Given the description of an element on the screen output the (x, y) to click on. 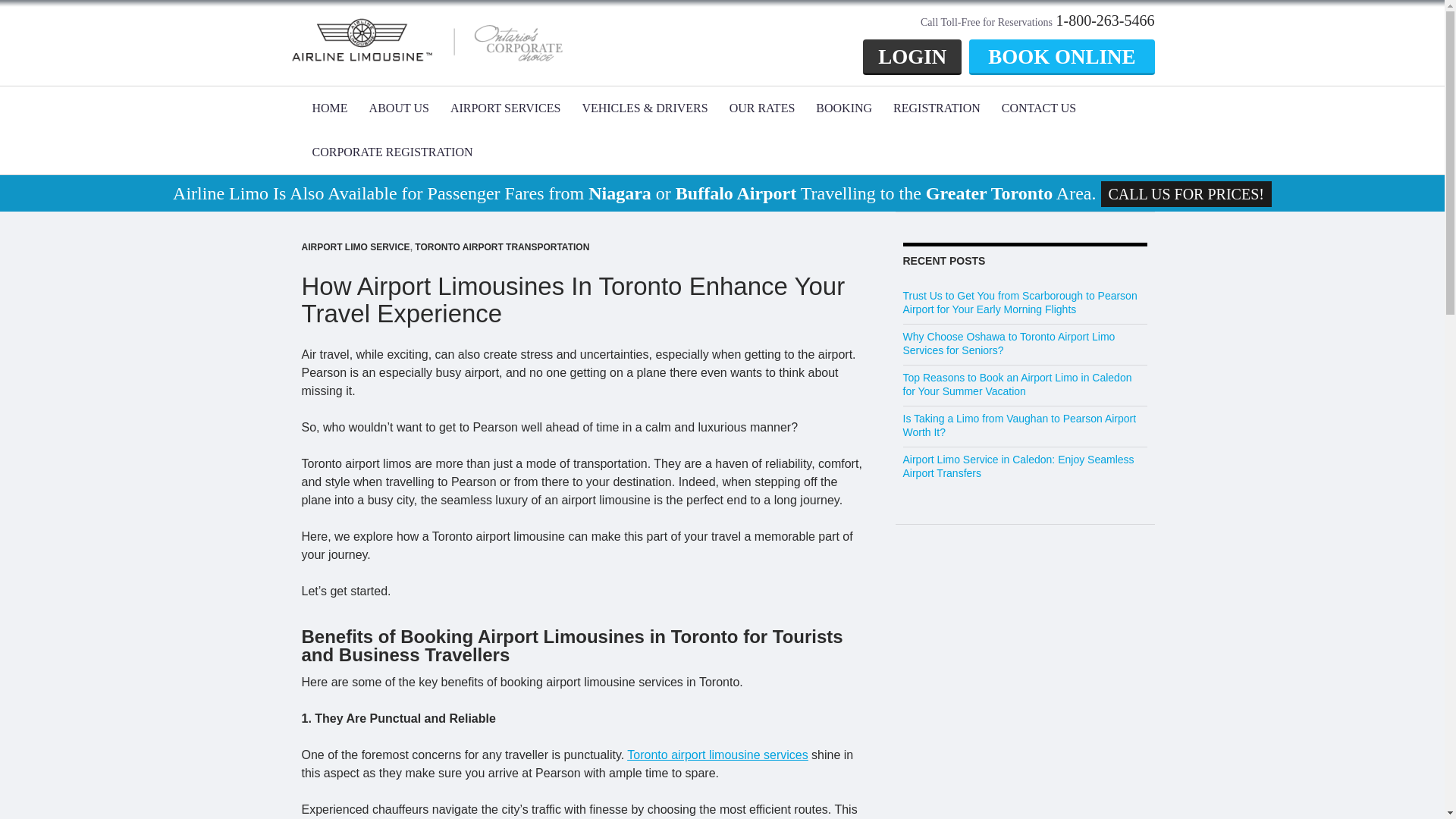
CALL US FOR PRICES! (1185, 193)
Is Taking a Limo from Vaughan to Pearson Airport Worth It? (1018, 425)
OUR RATES (762, 108)
AIRPORT LIMO SERVICE (355, 246)
REGISTRATION (936, 108)
BOOKING (843, 108)
CONTACT US (1038, 108)
CORPORATE REGISTRATION (392, 152)
AIRPORT SERVICES (505, 108)
HOME (329, 108)
Toronto airport limousine services (717, 754)
TORONTO AIRPORT TRANSPORTATION (501, 246)
